Given the description of an element on the screen output the (x, y) to click on. 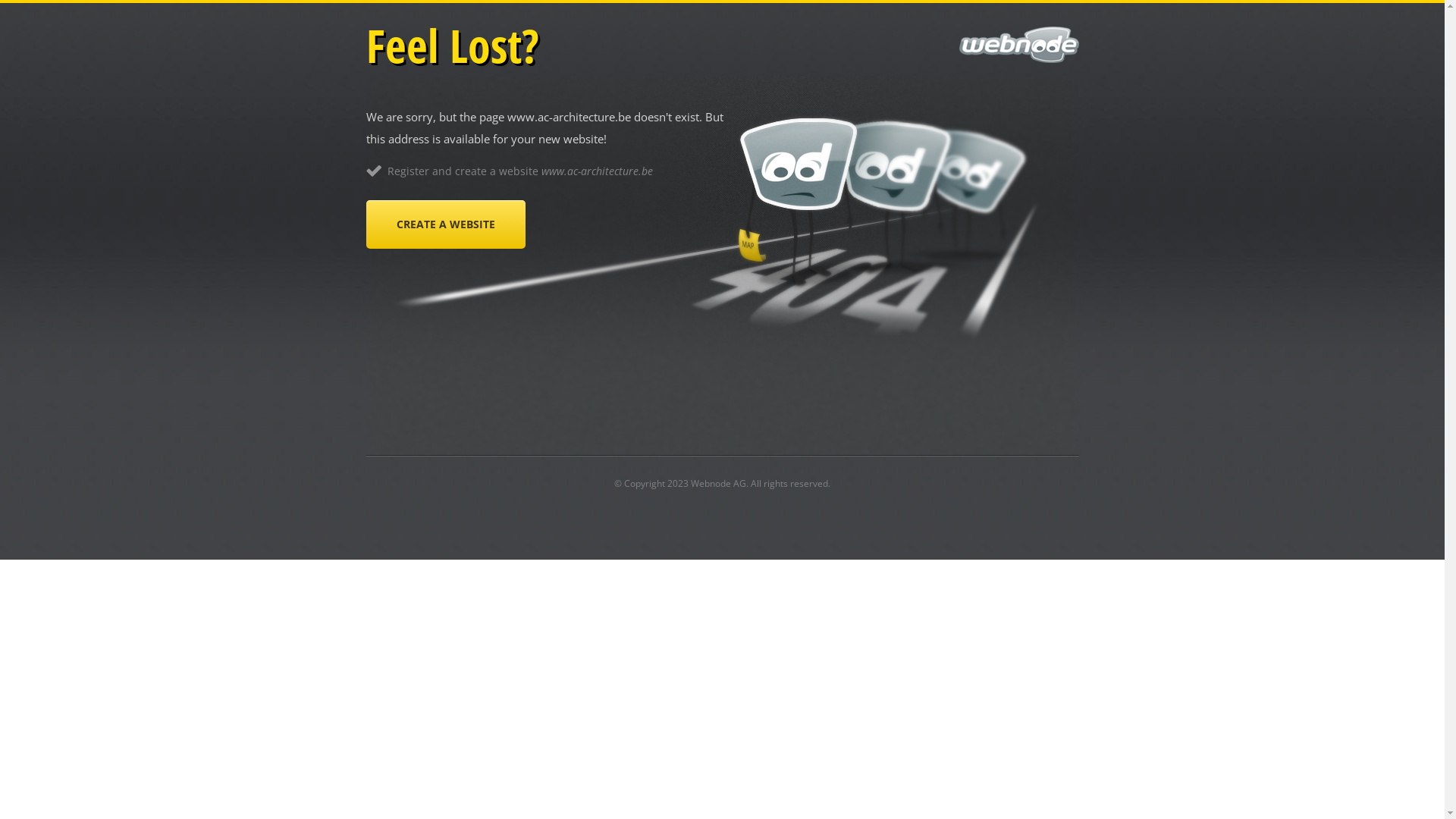
CREATE A WEBSITE Element type: text (444, 224)
Webnode AG Element type: text (718, 482)
